Given the description of an element on the screen output the (x, y) to click on. 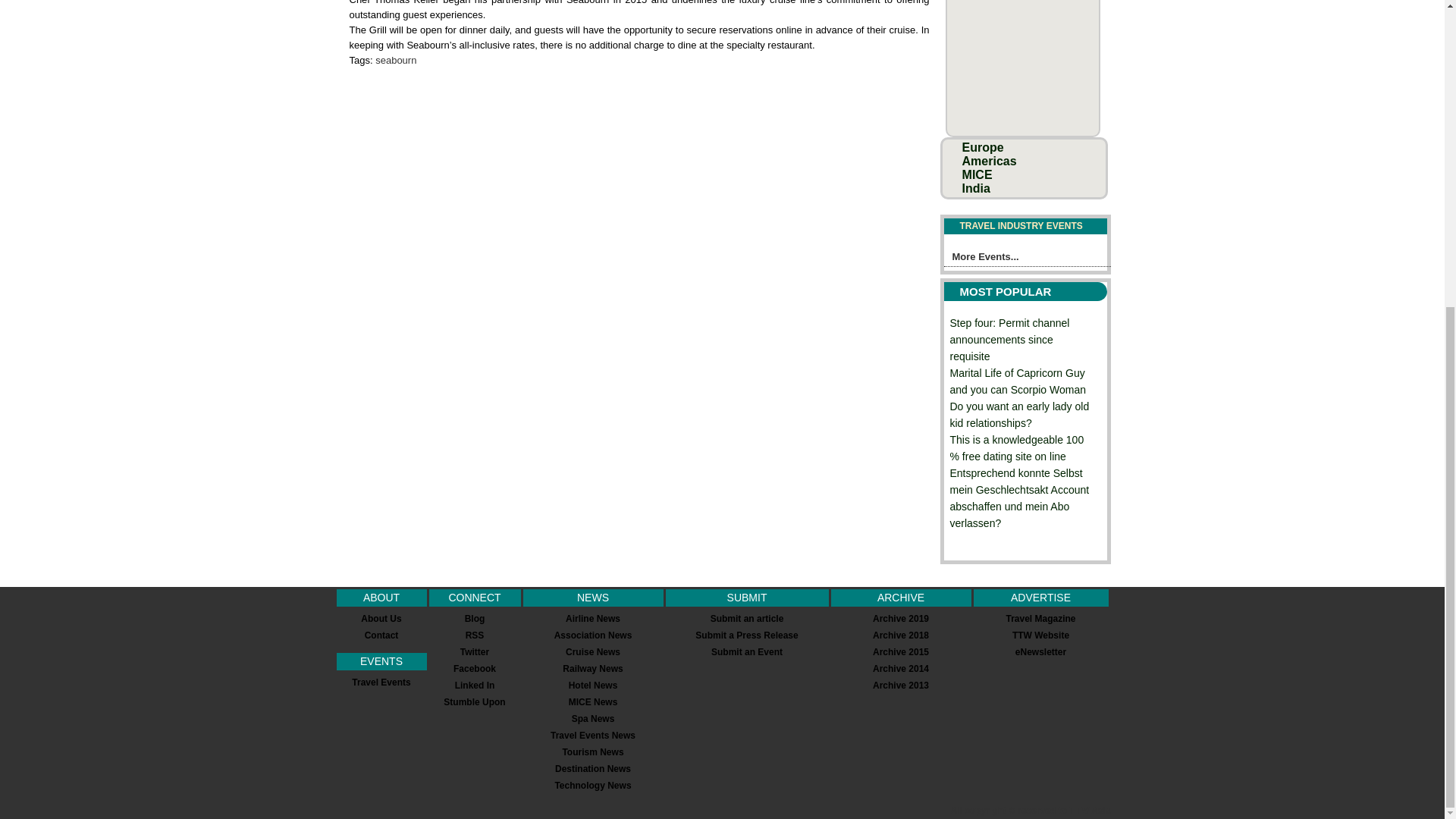
Europe (983, 146)
Stumble Upon (474, 701)
Travel Events (381, 682)
seabourn (395, 60)
MICE (977, 174)
Airline News (593, 618)
Twitter (474, 652)
India (976, 187)
RSS (474, 634)
